Given the description of an element on the screen output the (x, y) to click on. 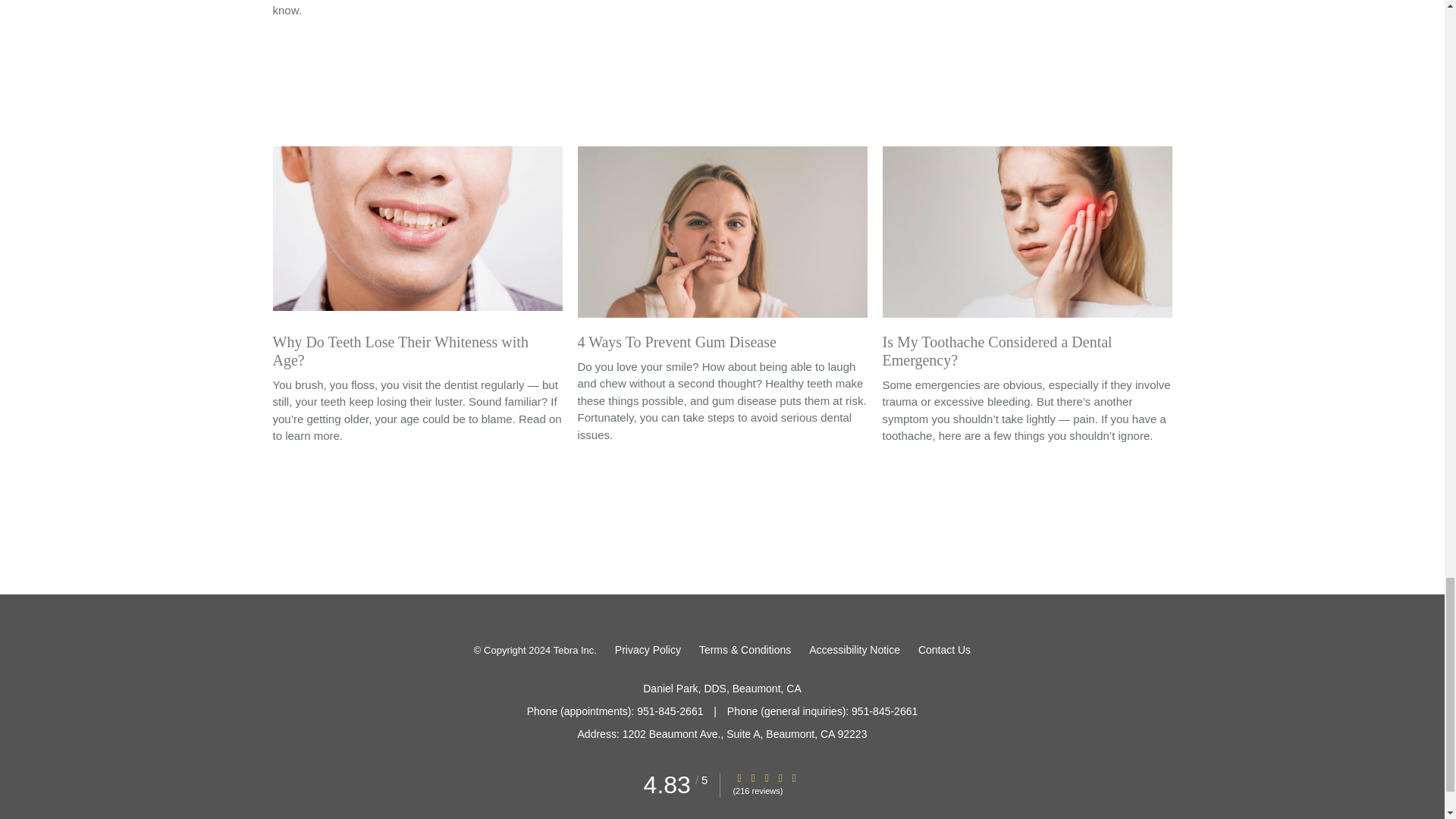
Star Rating (738, 778)
Star Rating (766, 778)
Star Rating (753, 778)
Star Rating (794, 778)
Star Rating (780, 778)
